Given the description of an element on the screen output the (x, y) to click on. 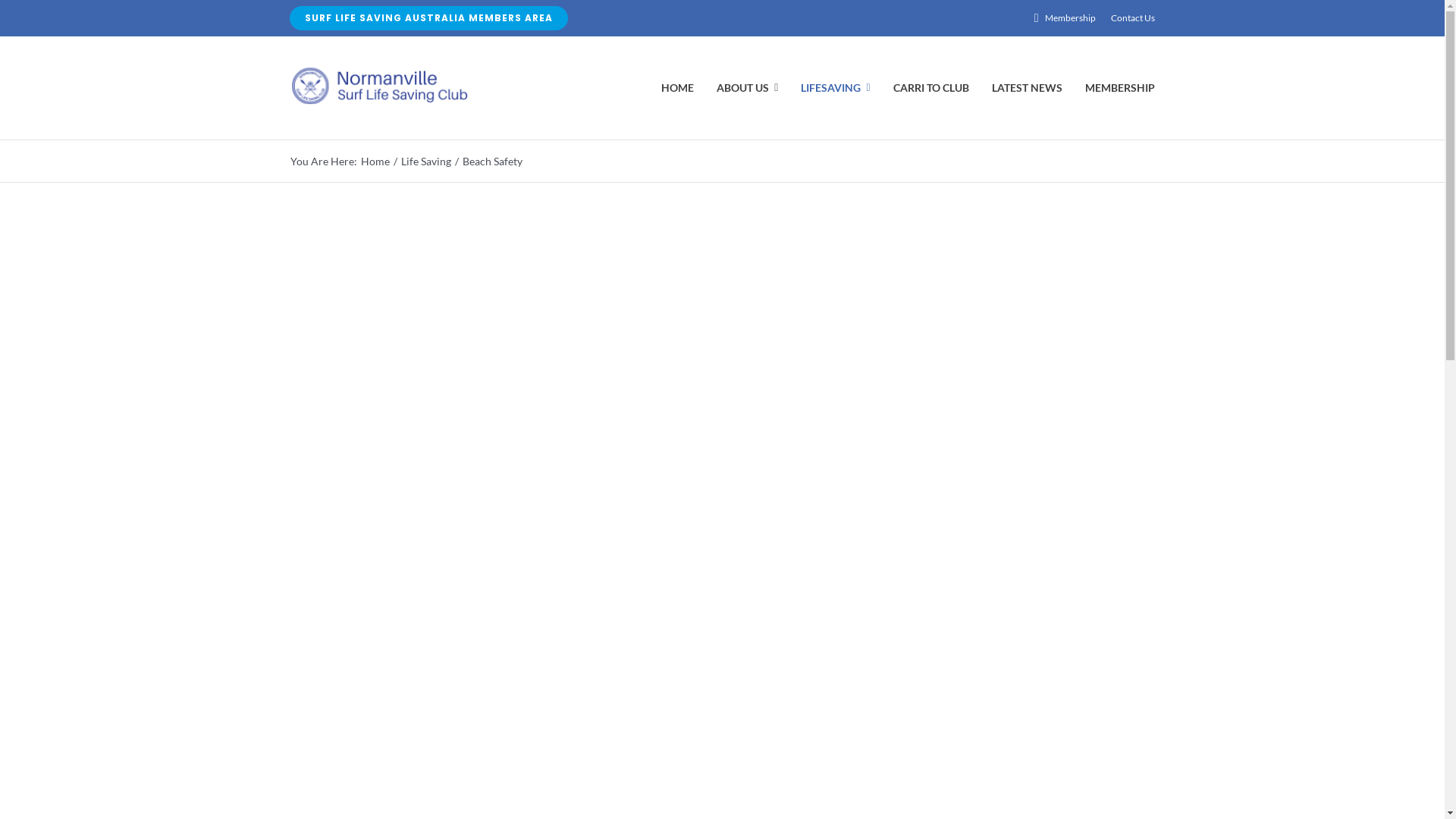
Contact Us Element type: text (1132, 18)
HOME Element type: text (677, 87)
Home Element type: text (374, 160)
CARRI TO CLUB Element type: text (931, 87)
Life Saving Element type: text (425, 160)
LATEST NEWS Element type: text (1026, 87)
Membership Element type: text (1061, 18)
MEMBERSHIP Element type: text (1119, 87)
LIFESAVING Element type: text (834, 87)
SURF LIFE SAVING AUSTRALIA MEMBERS AREA Element type: text (428, 18)
ABOUT US Element type: text (747, 87)
